Given the description of an element on the screen output the (x, y) to click on. 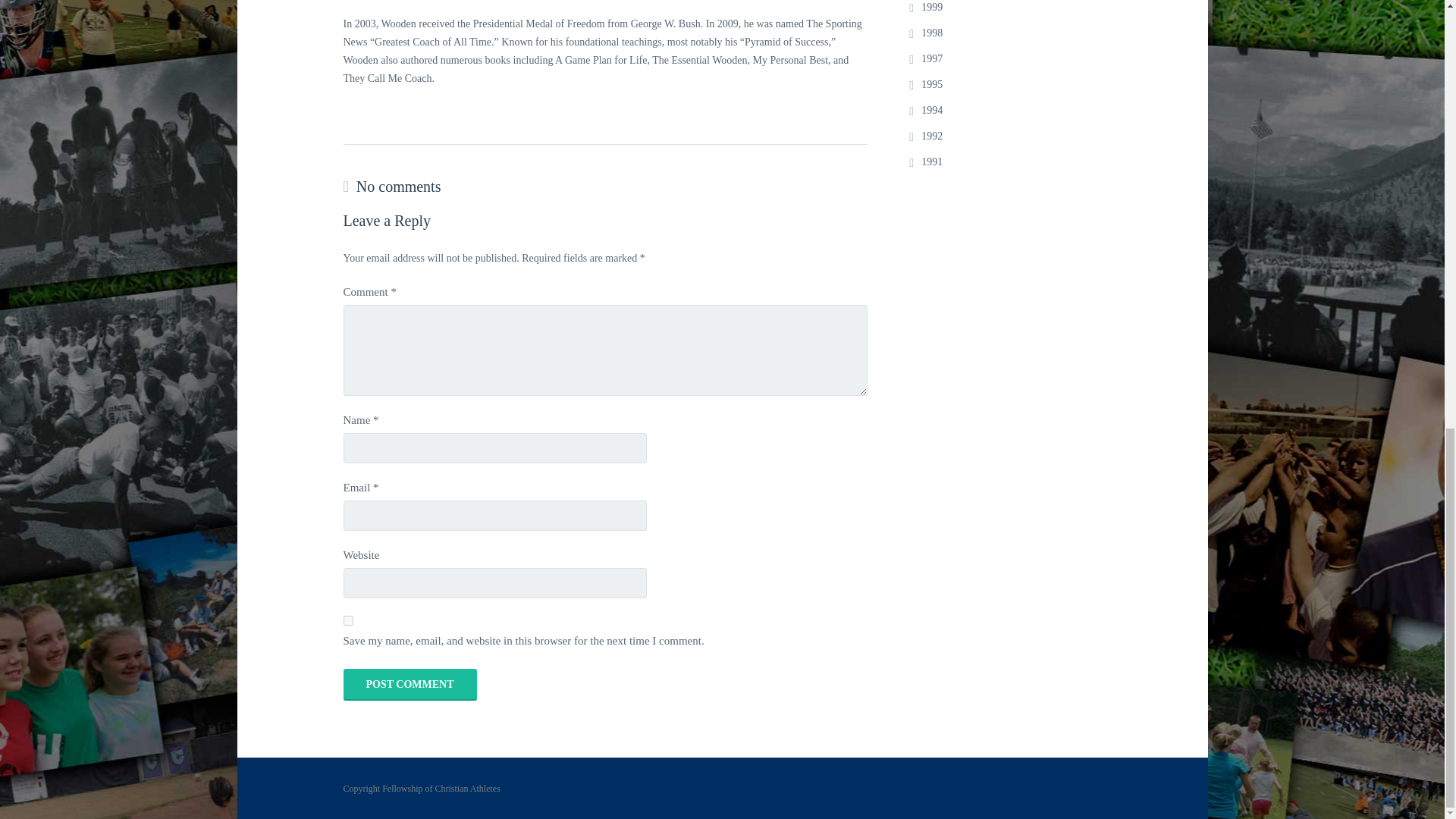
yes (347, 620)
1995 (931, 84)
1999 (931, 7)
Post Comment (409, 685)
1992 (931, 135)
1994 (931, 110)
1998 (931, 32)
Post Comment (409, 685)
1997 (931, 58)
